Given the description of an element on the screen output the (x, y) to click on. 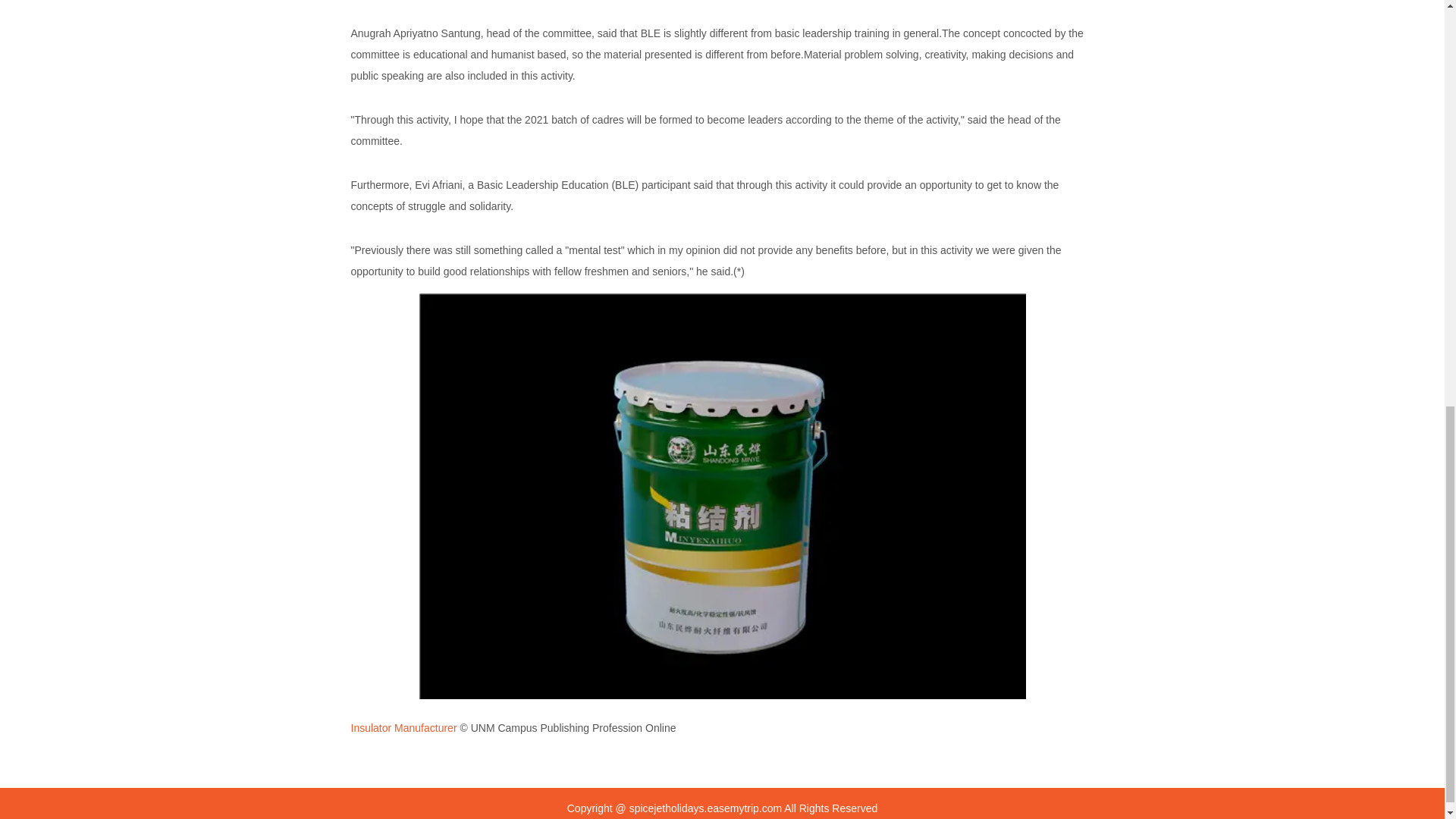
Insulator Manufacturer (403, 727)
